Given the description of an element on the screen output the (x, y) to click on. 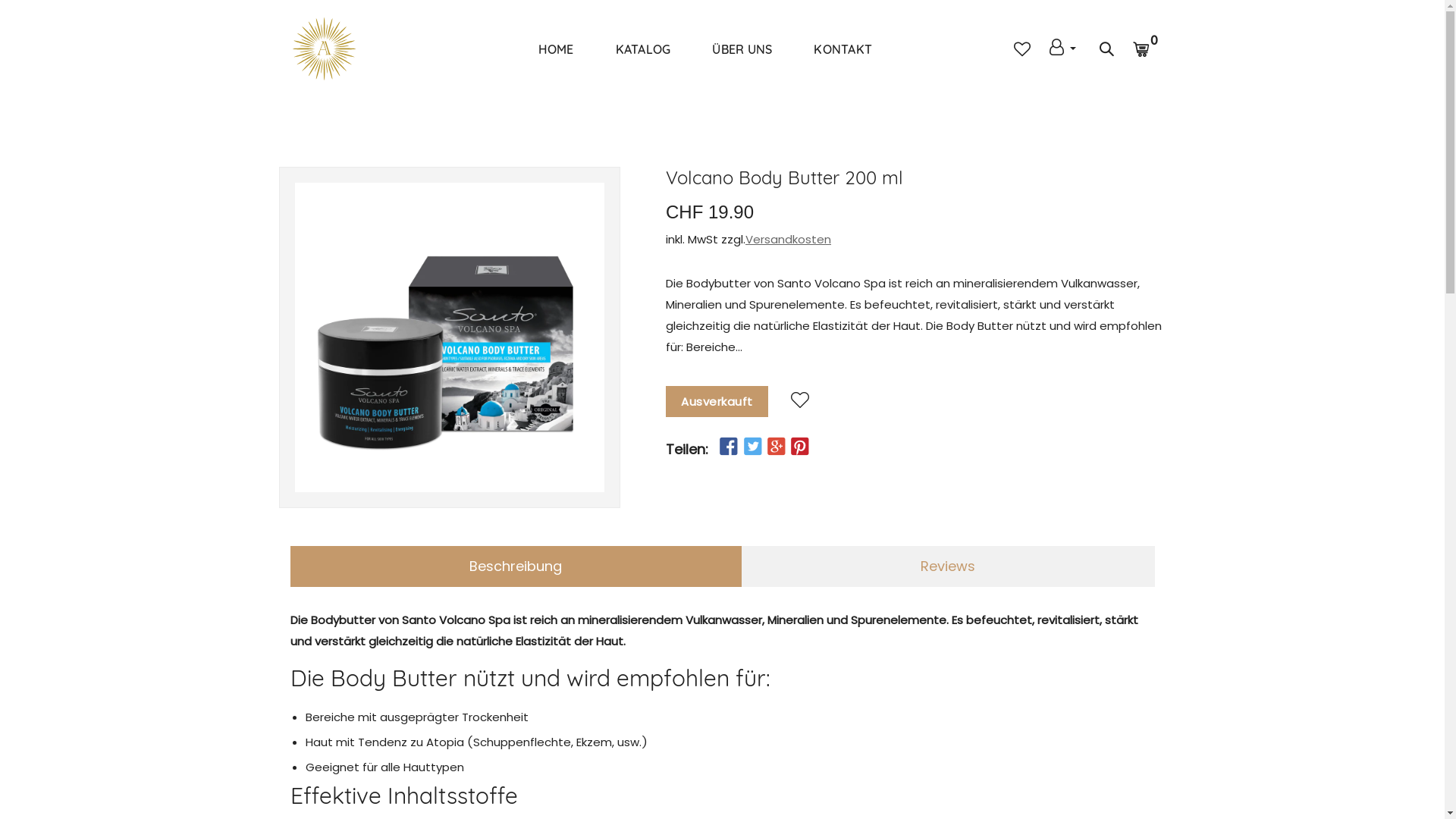
0 Element type: text (1148, 48)
KONTAKT Element type: text (842, 48)
HOME Element type: text (556, 48)
Follow us on Facebook Element type: hover (728, 447)
Share on Google+ Element type: hover (775, 447)
Versandkosten Element type: text (787, 239)
KATALOG Element type: text (643, 48)
Beschreibung Element type: text (514, 566)
Follow us on Twitter Element type: hover (752, 447)
Follow us on Pinterest Element type: hover (799, 447)
Ausverkauft Element type: text (716, 401)
Reviews Element type: text (947, 566)
